Given the description of an element on the screen output the (x, y) to click on. 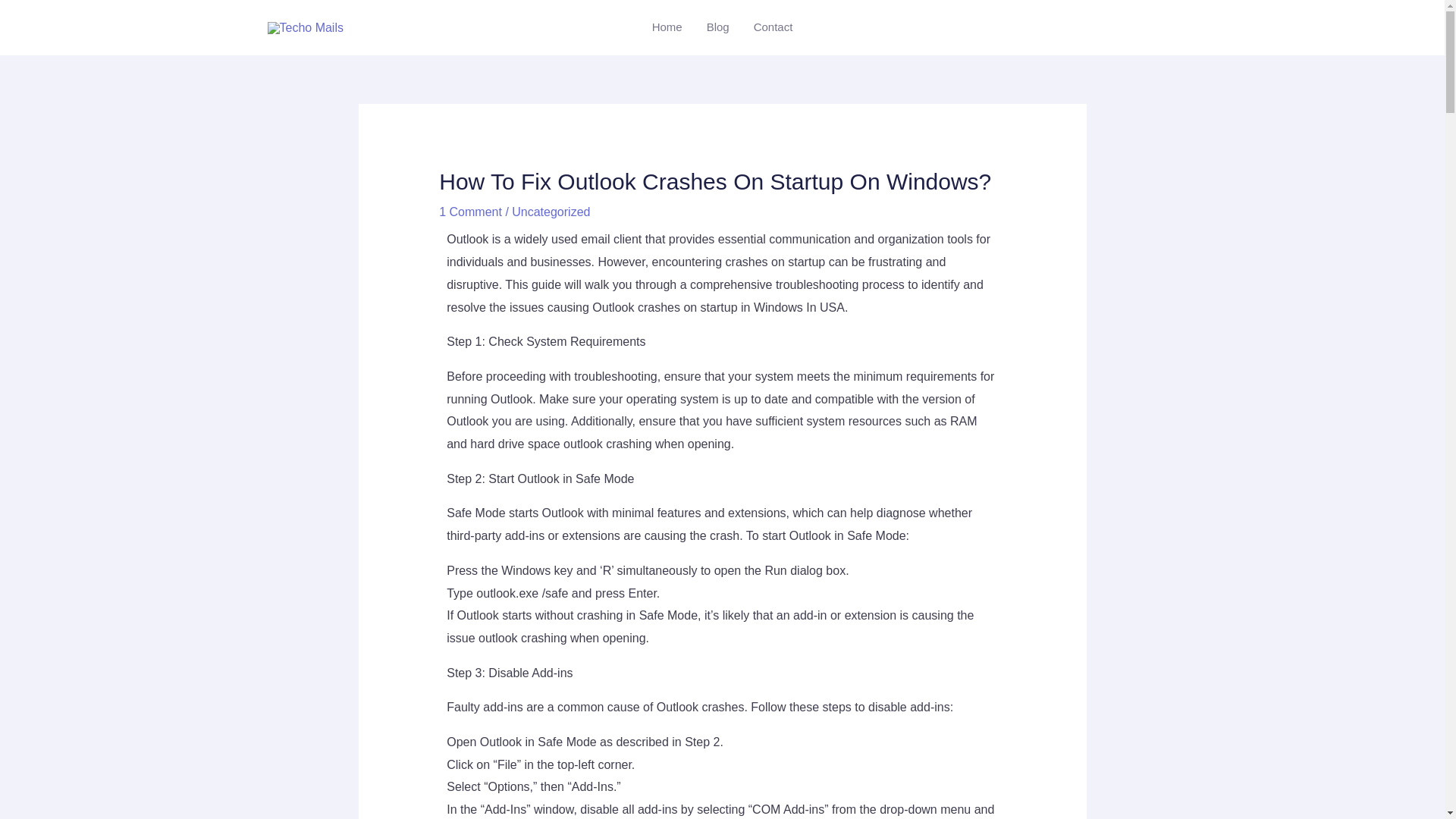
Uncategorized (550, 211)
1 Comment (470, 211)
Home (667, 27)
Contact (773, 27)
